Given the description of an element on the screen output the (x, y) to click on. 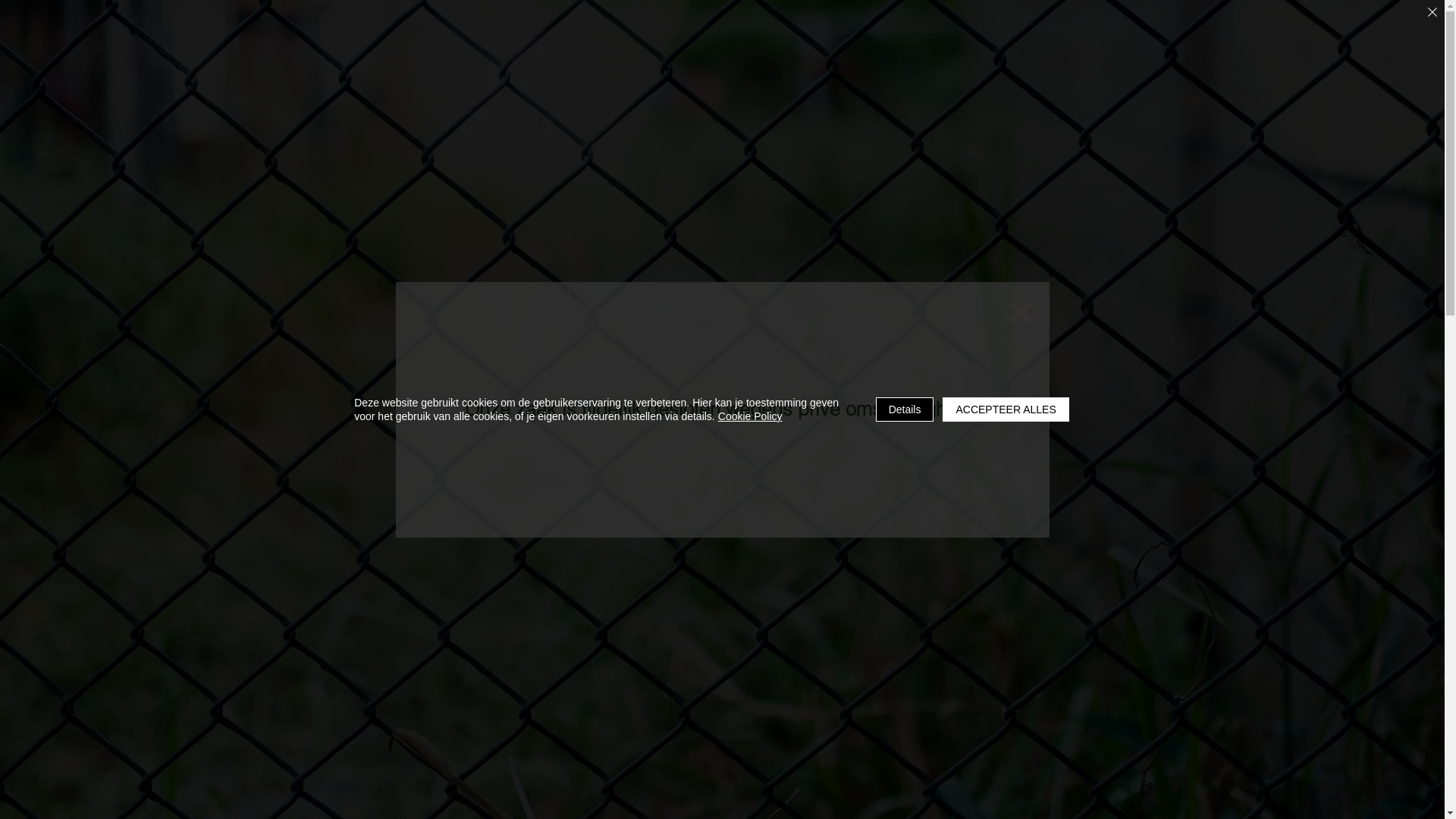
Terug naar de website Element type: hover (1021, 311)
CONTACT Element type: text (1036, 103)
DRAADAFSLUITINGEN Element type: text (521, 103)
HOME Element type: text (392, 103)
poorten@telenet.be Element type: text (721, 367)
poorten@telenet.be Element type: text (820, 28)
ACCEPTEER ALLES Element type: text (1005, 409)
POORTEN Element type: text (933, 103)
afsluitingen@telenet.be Element type: text (805, 48)
poorten@telenet.be Element type: text (906, 670)
Tel. 0497 23 56 92 Element type: text (997, 37)
0497 23 56 92 Element type: text (892, 646)
Cookie Policy Element type: text (750, 416)
HOUTEN EN STENEN AFSLUITINGEN Element type: text (747, 103)
Details Element type: text (904, 409)
